Given the description of an element on the screen output the (x, y) to click on. 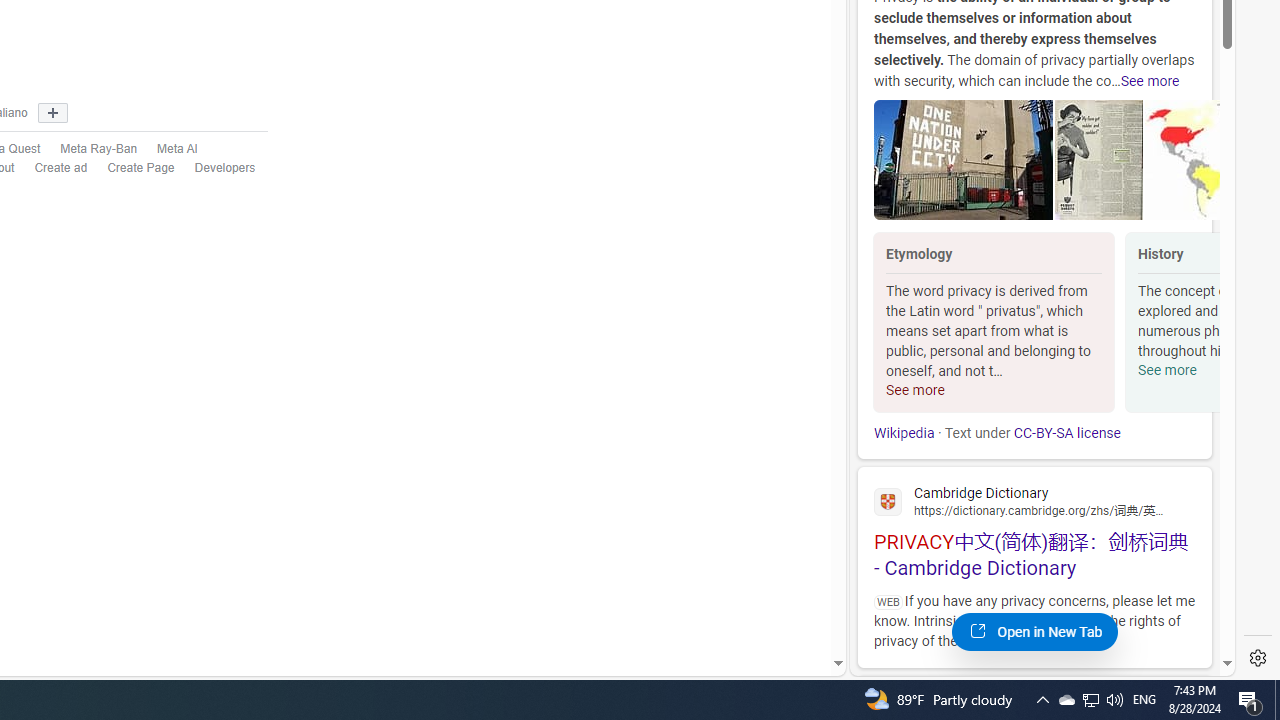
Meta AI (167, 149)
Settings (1258, 658)
Meta Ray-Ban (99, 148)
CC-BY-SA license (1066, 433)
Click to scroll right (1196, 324)
Developers (215, 169)
Developers (225, 168)
Meta Ray-Ban (88, 149)
Meta AI (177, 148)
Global web icon (888, 501)
